Given the description of an element on the screen output the (x, y) to click on. 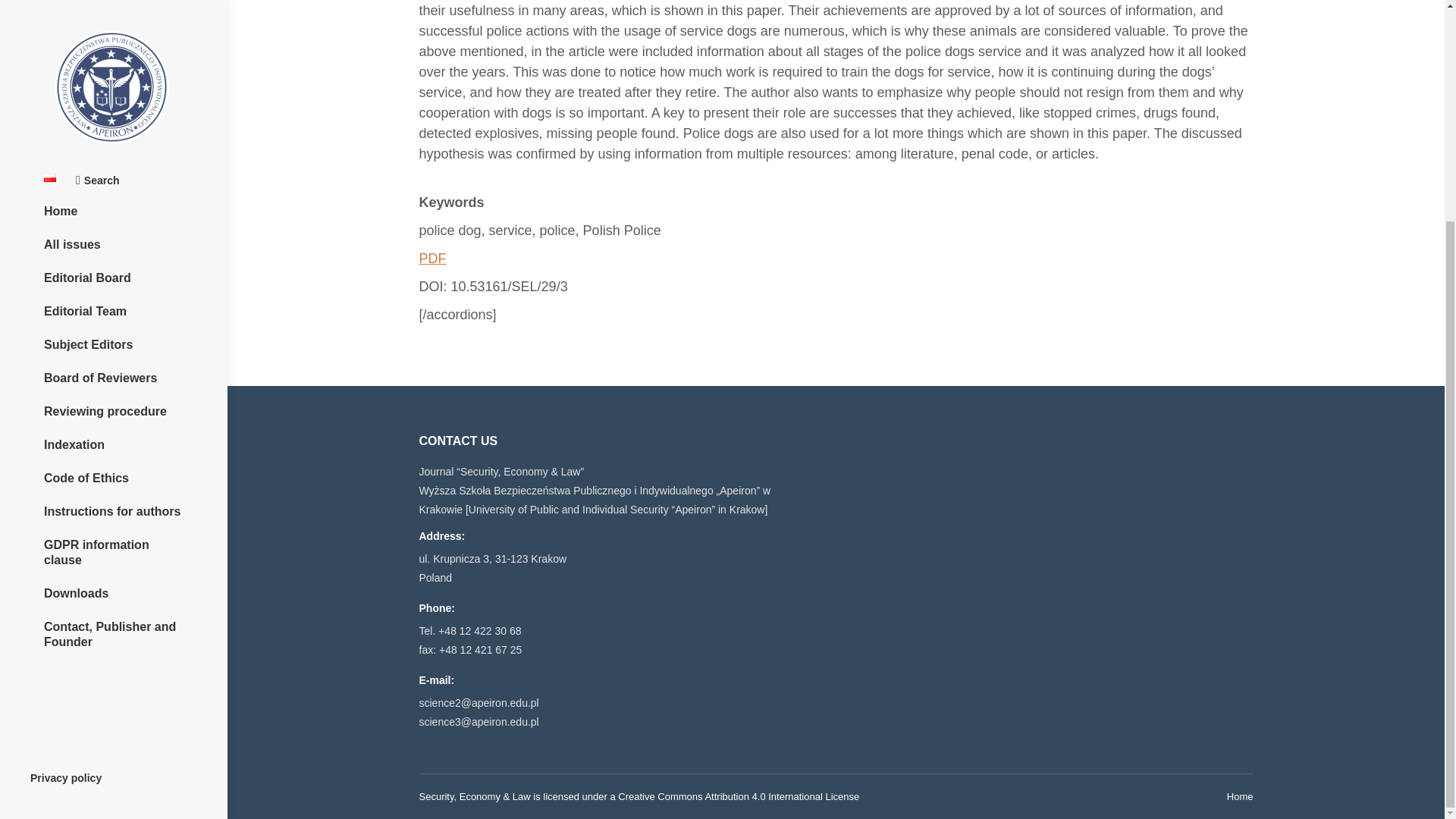
Indexation (113, 151)
Editorial Team (113, 17)
Downloads (113, 300)
Board of Reviewers (113, 84)
Contact, Publisher and Founder (113, 340)
GDPR information clause (113, 258)
Instructions for authors (113, 218)
Code of Ethics (113, 184)
Privacy policy (65, 484)
Subject Editors (113, 51)
Reviewing procedure (113, 117)
